Given the description of an element on the screen output the (x, y) to click on. 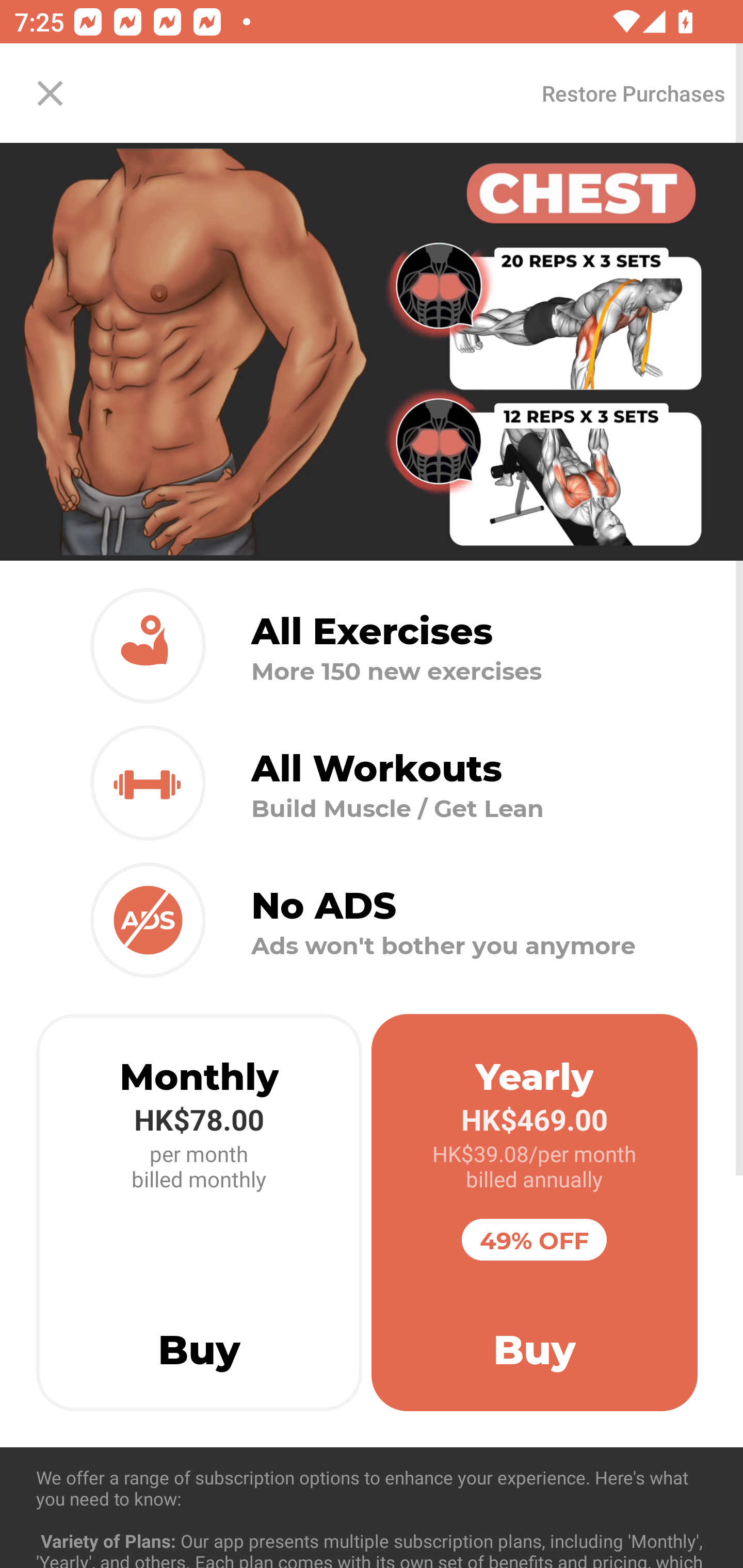
Restore Purchases (632, 92)
Monthly HK$78.00 per month
billed monthly Buy (199, 1212)
